Given the description of an element on the screen output the (x, y) to click on. 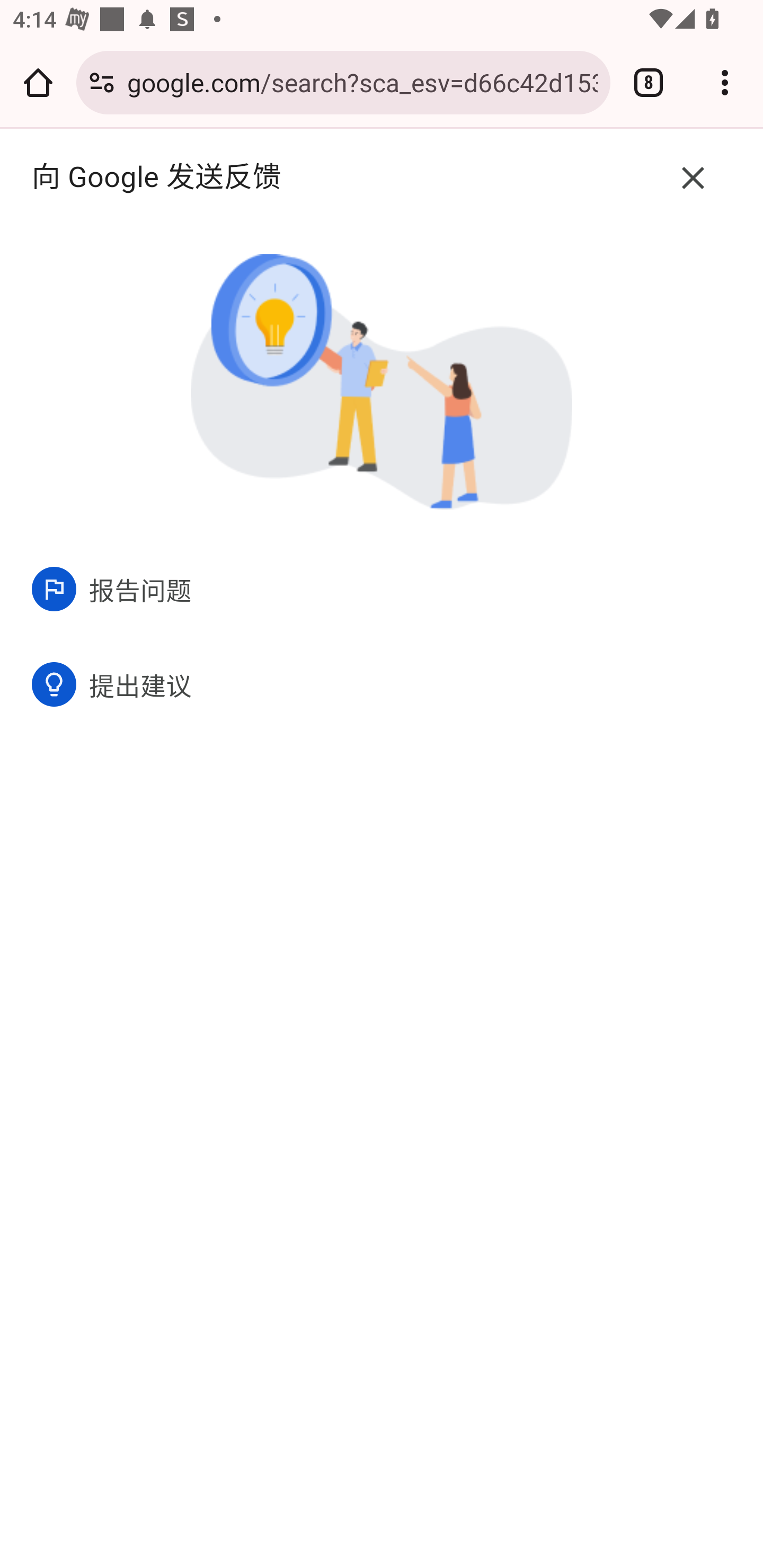
Open the home page (38, 82)
Connection is secure (101, 82)
Switch or close tabs (648, 82)
Customize and control Google Chrome (724, 82)
关闭 (692, 177)
报告问题 (381, 588)
提出建议 (381, 683)
